Given the description of an element on the screen output the (x, y) to click on. 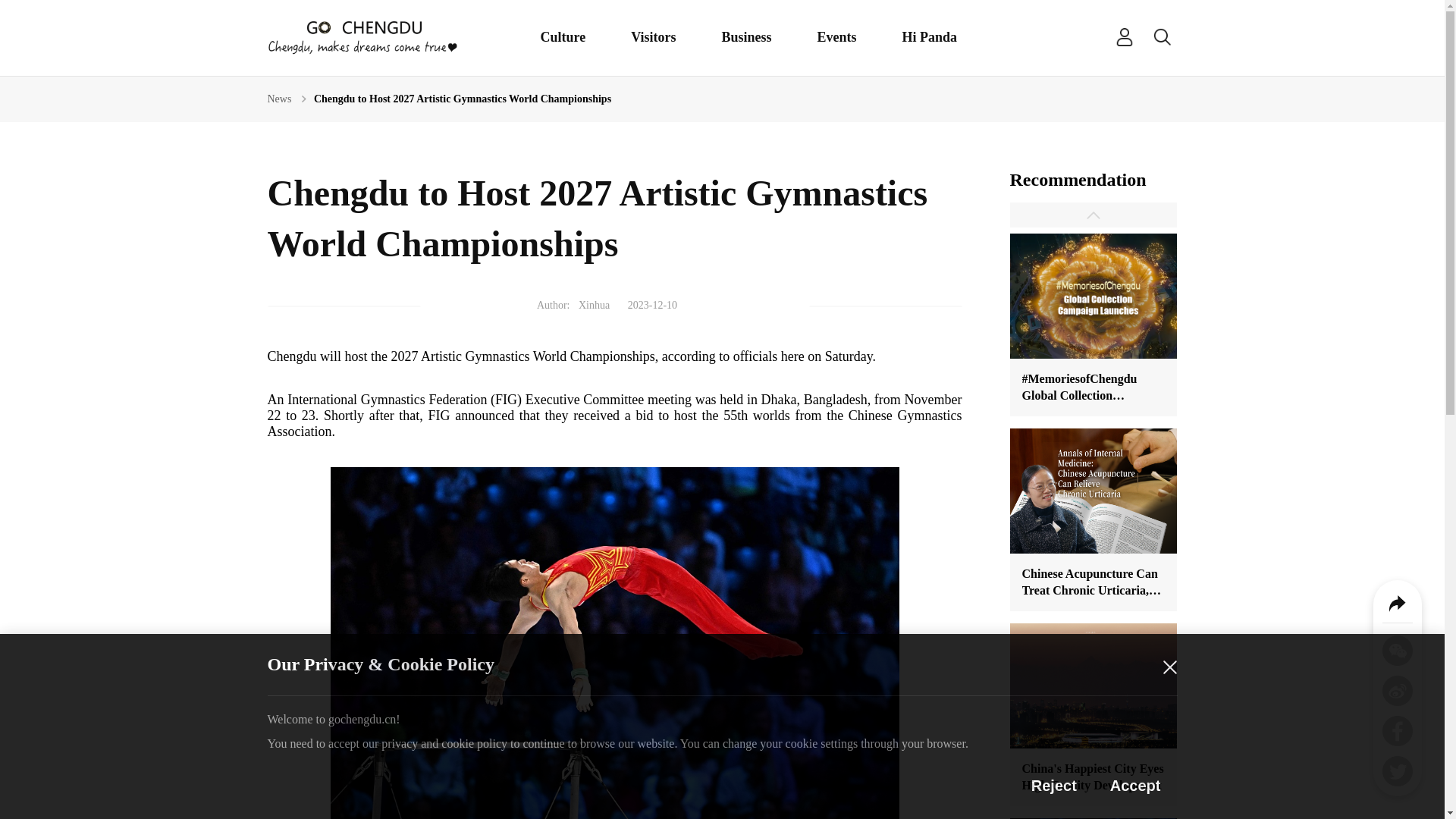
News (278, 99)
Chengdu to Host 2027 Artistic Gymnastics World Championships (462, 99)
Hi Panda (930, 36)
Chinese Acupuncture Can Treat Chronic Urticaria, Study Finds (1093, 513)
Reject (1054, 785)
Accept (1135, 785)
Business (746, 36)
Visitors (652, 36)
China's Happiest City Eyes High-Quality Development (1093, 708)
